Given the description of an element on the screen output the (x, y) to click on. 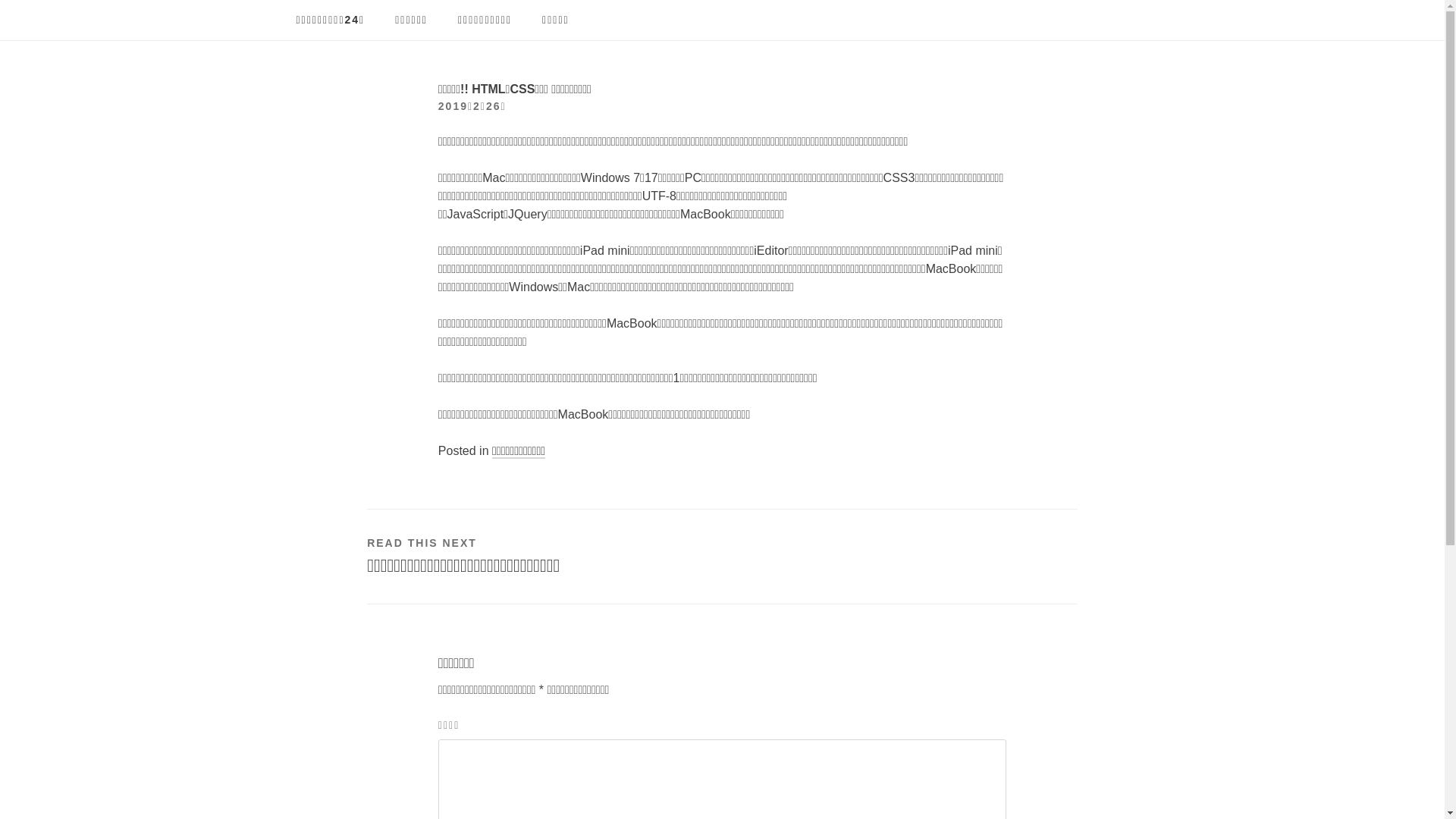
Skip to content Element type: text (0, 0)
